Given the description of an element on the screen output the (x, y) to click on. 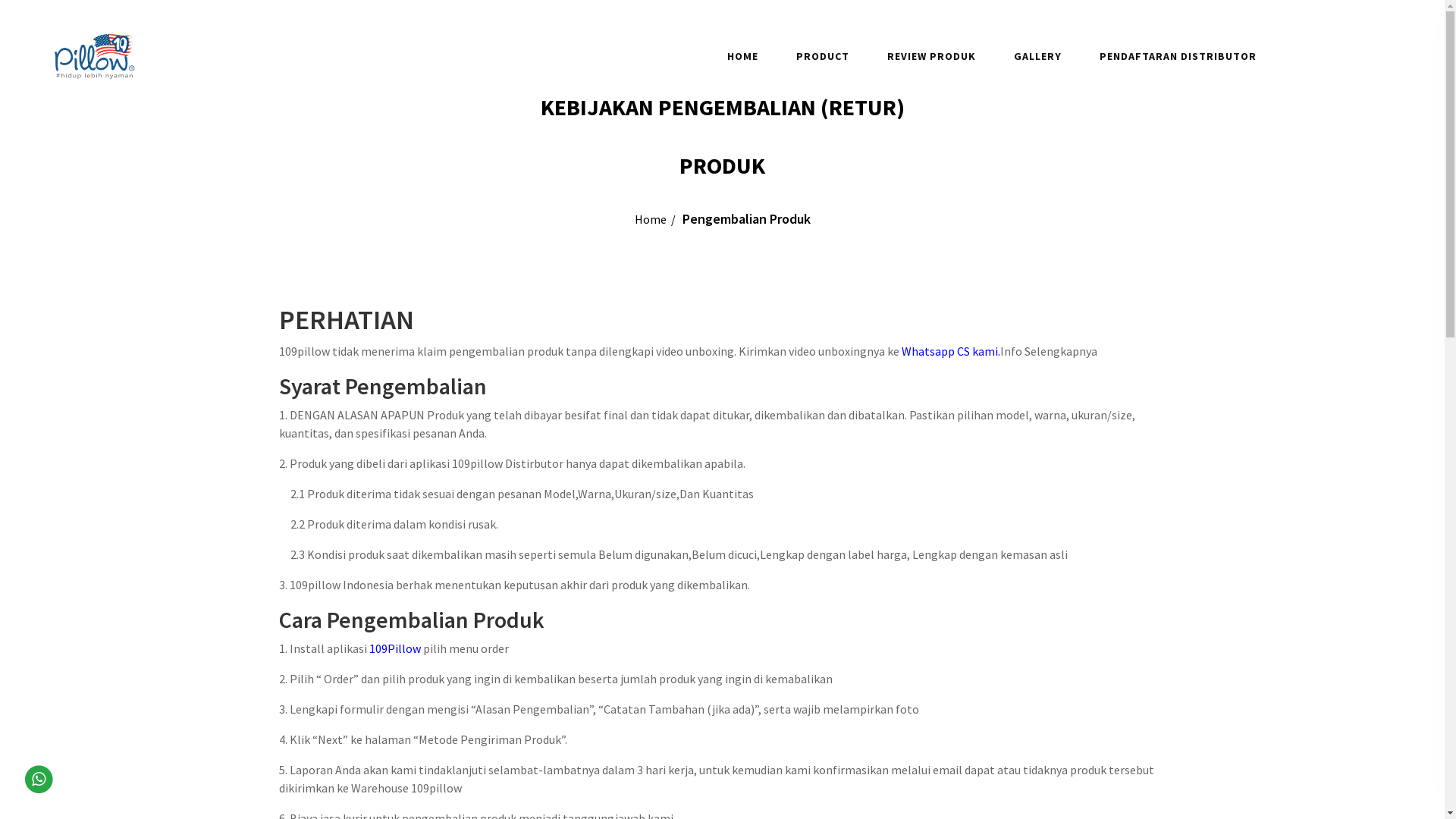
PENDAFTARAN DISTRIBUTOR Element type: text (1177, 56)
109Pillow Element type: text (394, 648)
Whatsapp CS kami. Element type: text (949, 351)
PRODUCT Element type: text (822, 56)
REVIEW PRODUK Element type: text (931, 56)
Home Element type: text (649, 218)
GALLERY Element type: text (1037, 56)
HOME Element type: text (742, 56)
